Given the description of an element on the screen output the (x, y) to click on. 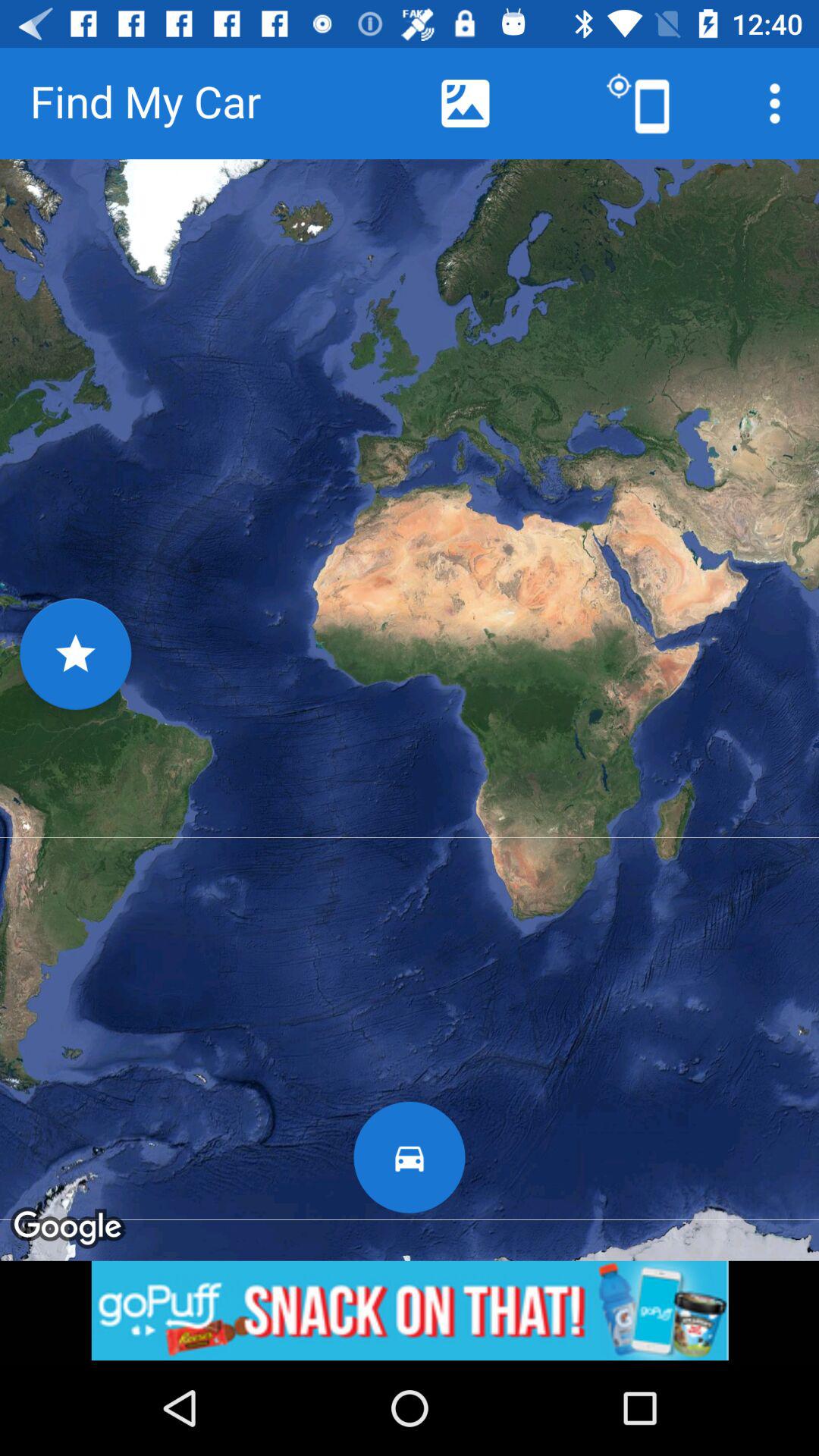
banner advertisement (409, 1310)
